Given the description of an element on the screen output the (x, y) to click on. 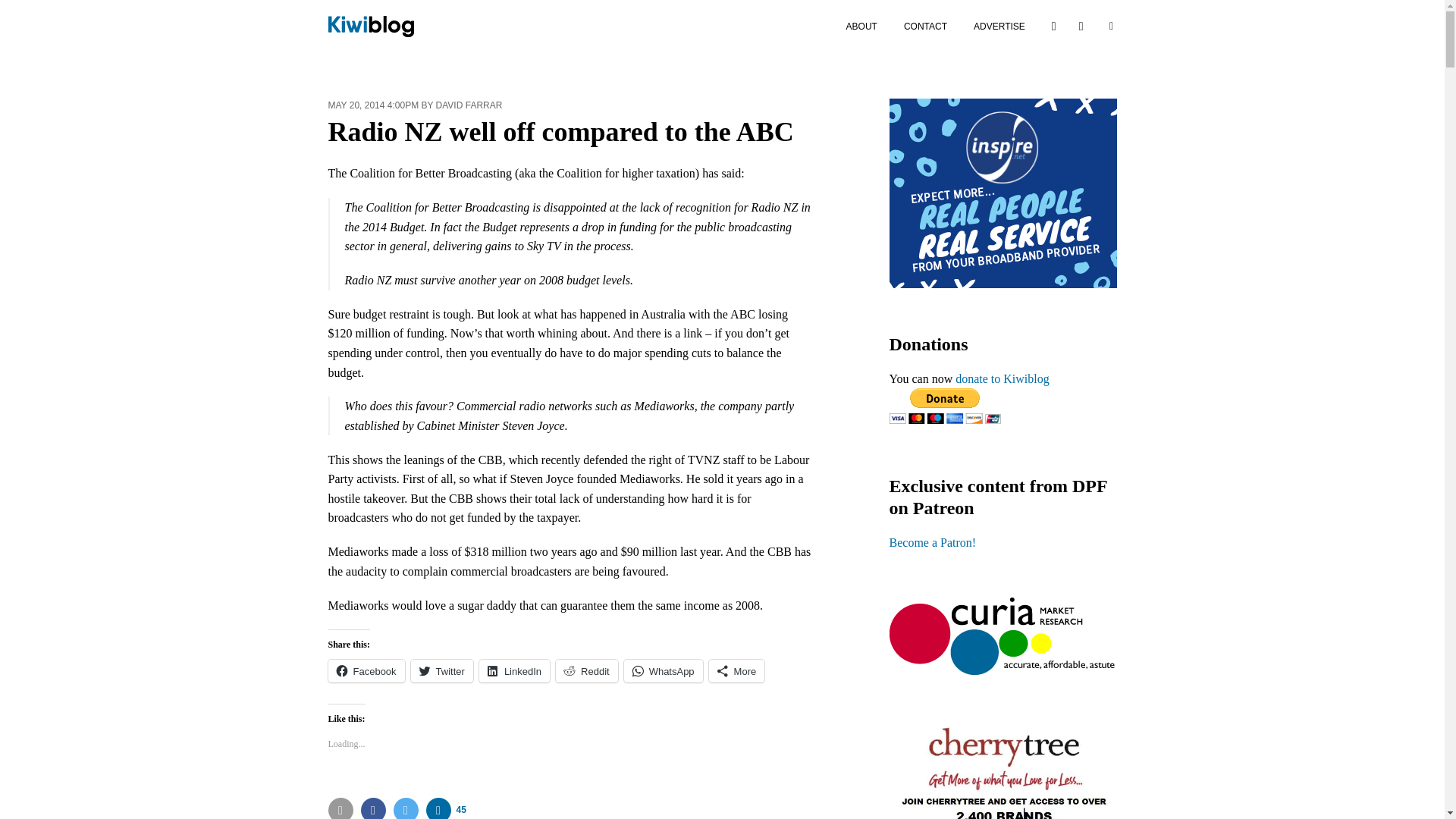
Twitter (441, 671)
Email (339, 808)
Click to add a comment (445, 808)
Facebook (373, 808)
Twitter (405, 808)
Click to share on Reddit (586, 671)
Click to share on Twitter (441, 671)
Click to share on LinkedIn (514, 671)
CONTACT (925, 26)
Click to share via email (339, 808)
